Given the description of an element on the screen output the (x, y) to click on. 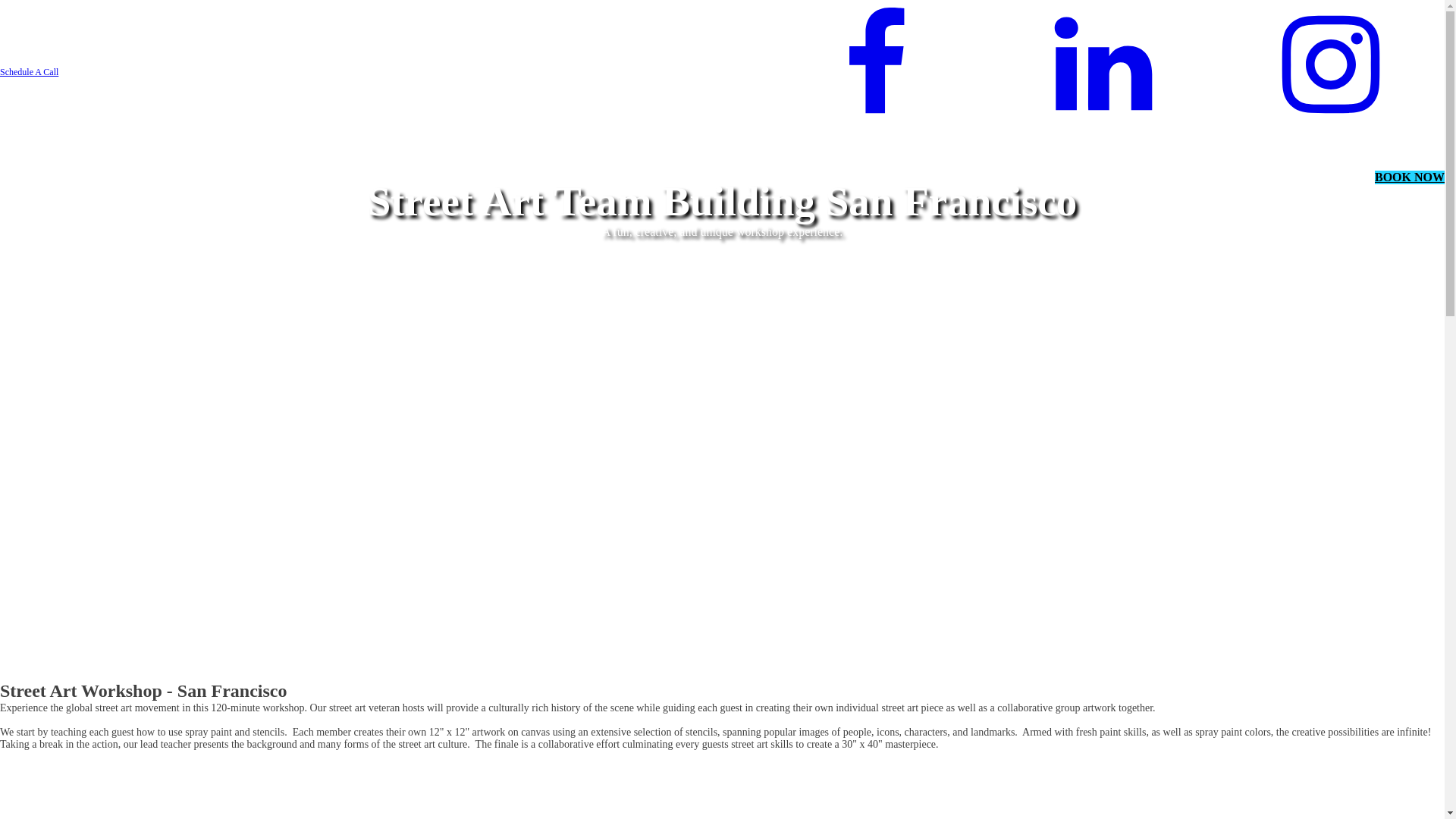
MURAL SERVICES Element type: text (1315, 177)
WORKSHOPS Element type: text (1208, 177)
Schedule A Call Element type: text (29, 65)
BOOK NOW Element type: text (1409, 177)
